Given the description of an element on the screen output the (x, y) to click on. 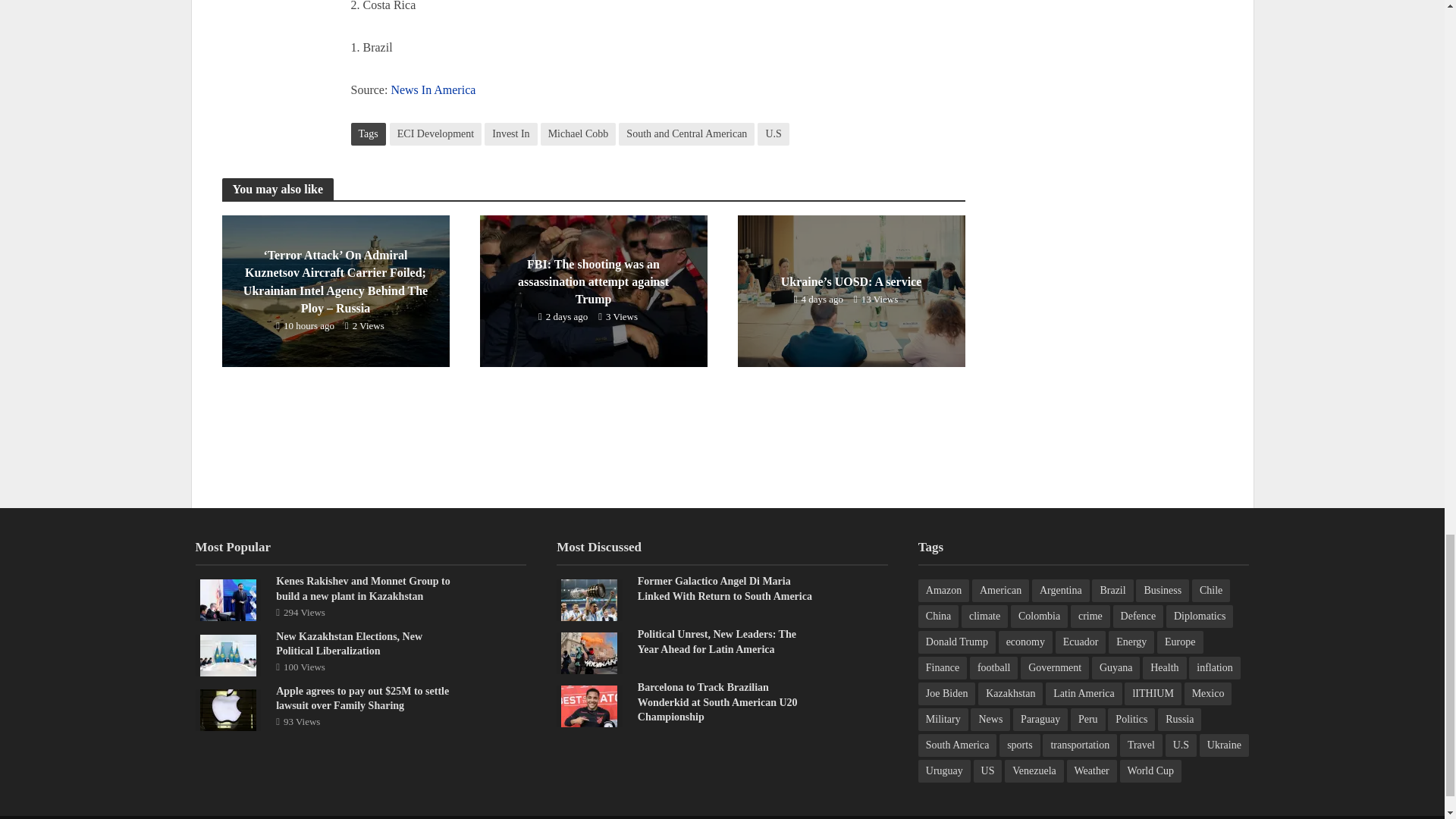
FBI: The shooting was an assassination attempt against Trump (592, 289)
